Given the description of an element on the screen output the (x, y) to click on. 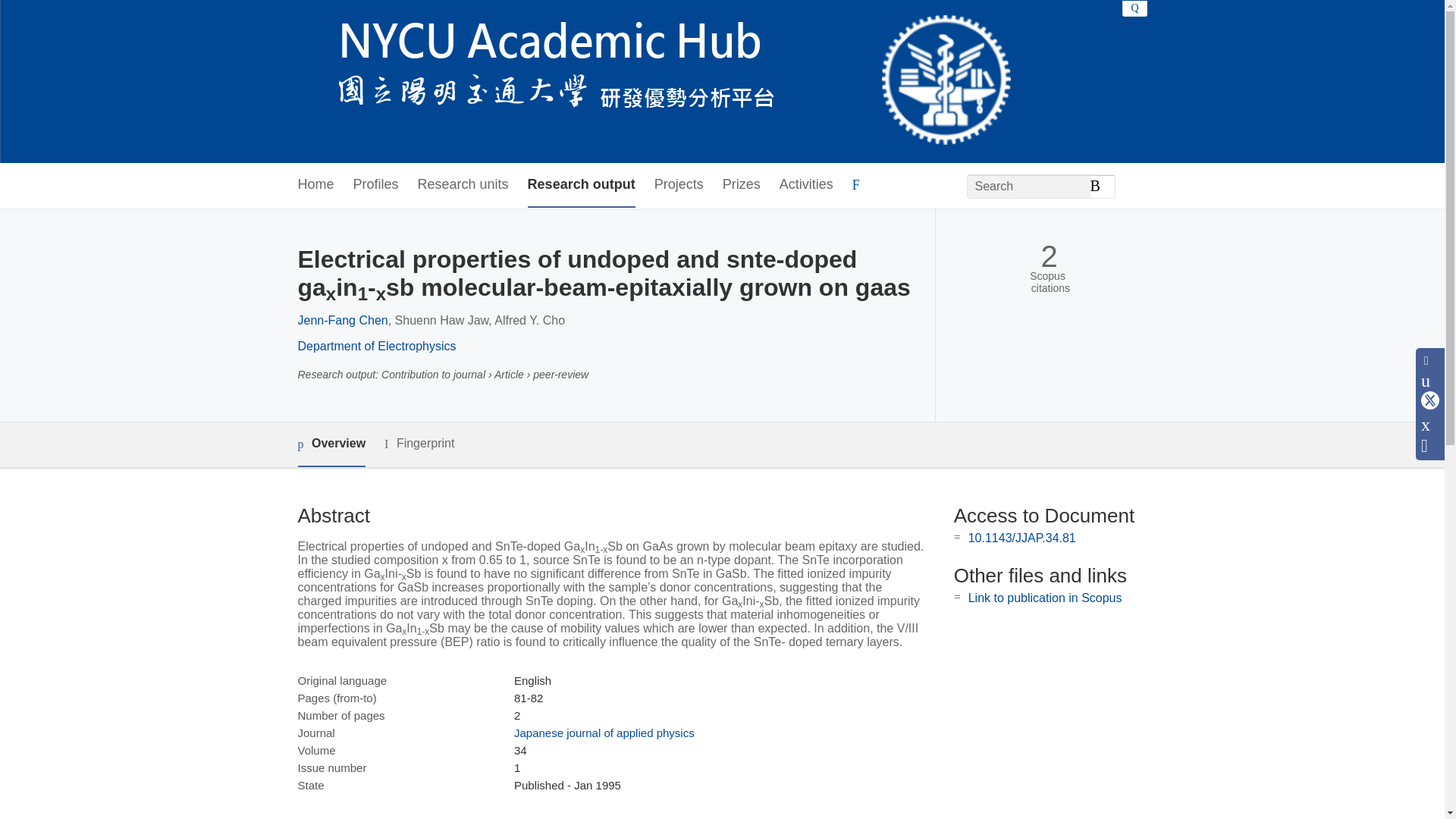
Research units (462, 185)
Research output (580, 185)
Fingerprint (419, 444)
Department of Electrophysics (376, 345)
National Yang Ming Chiao Tung University Academic Hub Home (653, 81)
Overview (331, 444)
Japanese journal of applied physics (603, 732)
Projects (678, 185)
Jenn-Fang Chen (342, 319)
Activities (805, 185)
